Given the description of an element on the screen output the (x, y) to click on. 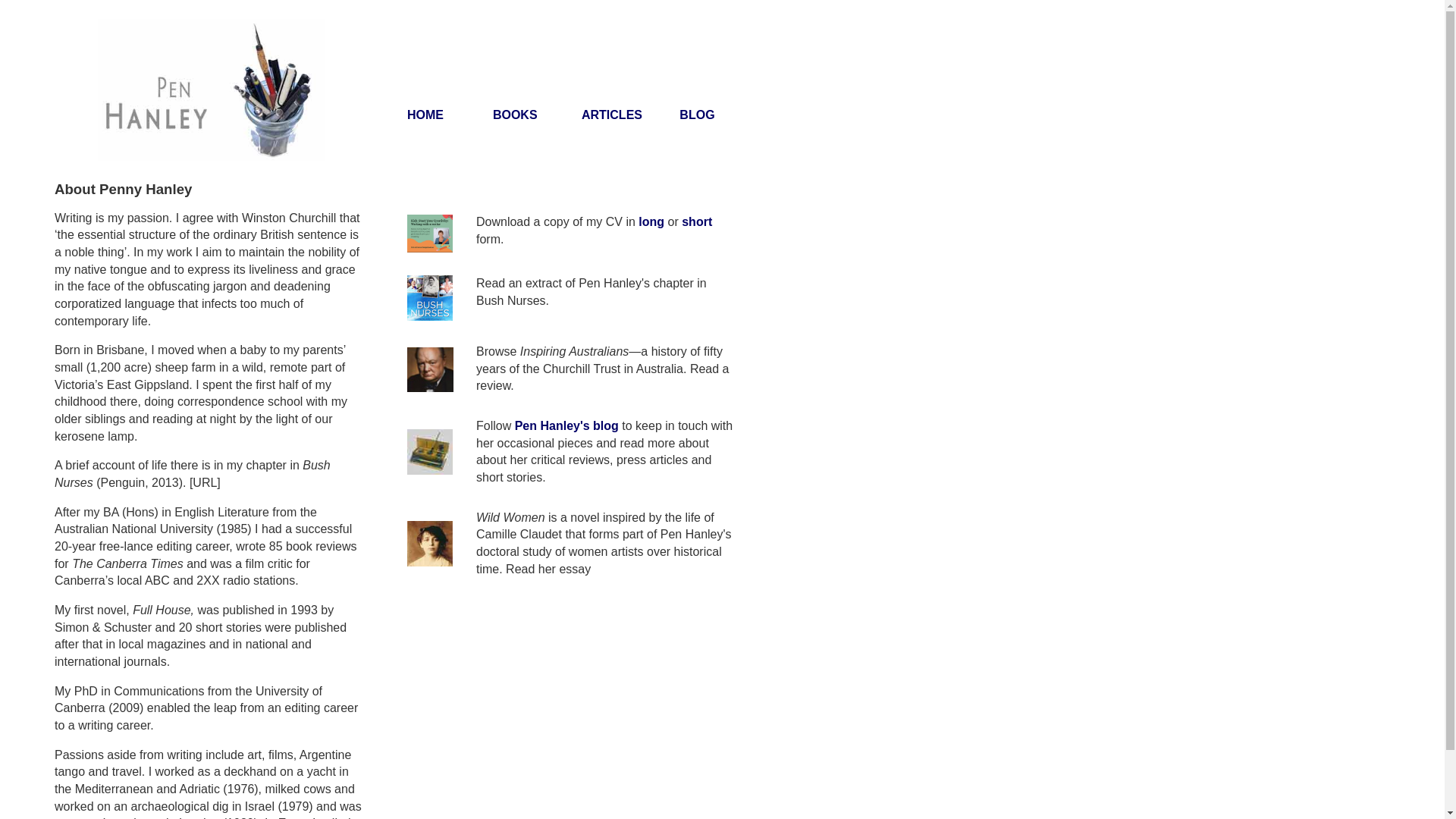
ARTICLES Element type: text (611, 114)
BOOKS Element type: text (514, 114)
Pen Hanley's blog Element type: text (566, 425)
long Element type: text (651, 221)
HOME Element type: text (425, 114)
BLOG Element type: text (696, 114)
short Element type: text (696, 221)
